Given the description of an element on the screen output the (x, y) to click on. 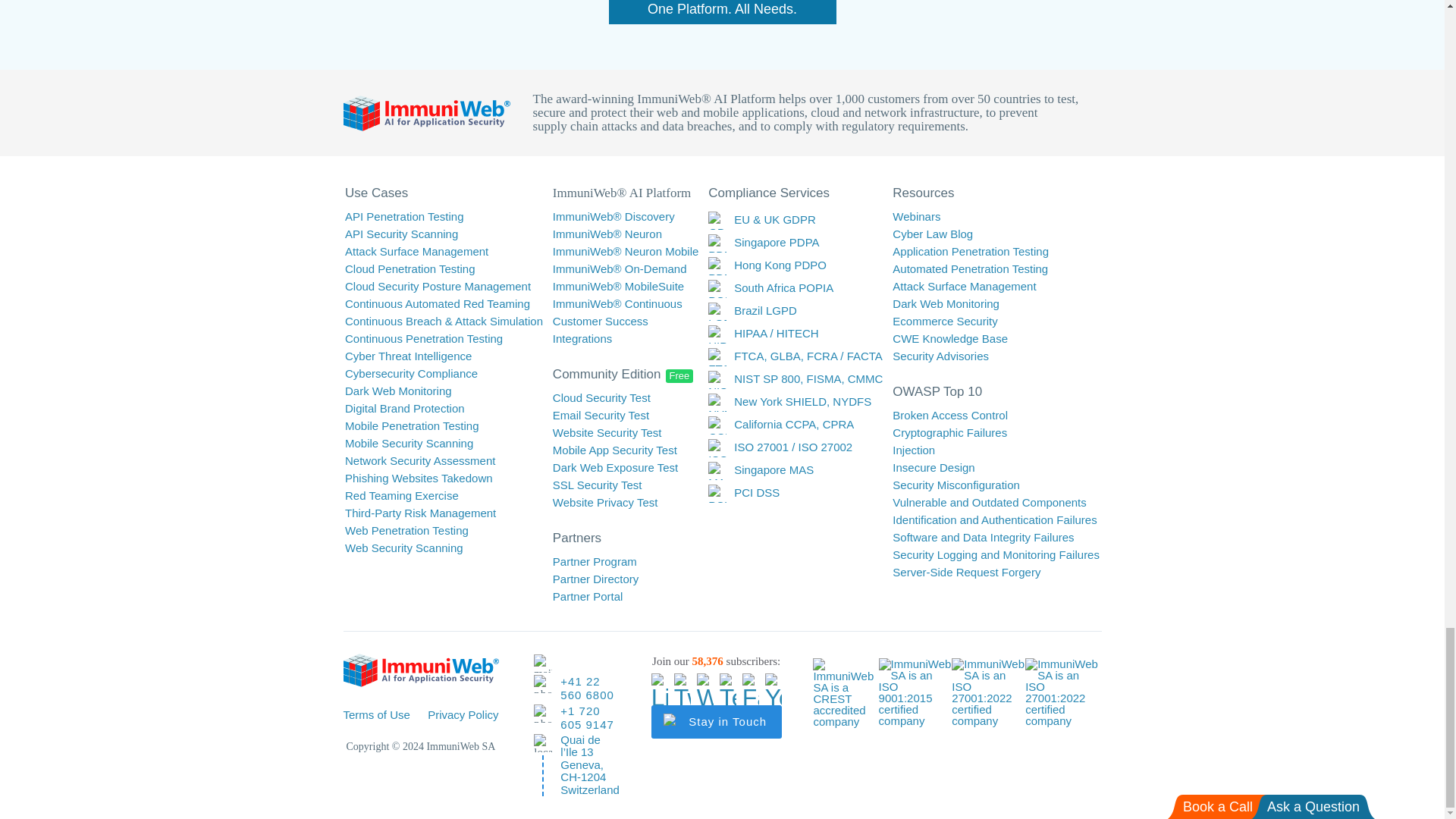
ImmuniWeb YouTube (773, 681)
ImmuniWeb on LinkedIn (659, 681)
ImmuniWeb Newsletter (715, 721)
ImmuniWeb on WhatsApp (705, 681)
ImmuniWeb SA is an ISO 9001:2015 certified company (915, 695)
ImmuniWeb on Telegram (727, 681)
ImmuniWeb on Twitter (682, 681)
ImmuniWeb on Facebook (750, 681)
ImmuniWeb SA is an ISO 27001:2022 certified company (1062, 695)
ImmuniWeb SA is an ISO 27001:2022 certified company (989, 695)
